Given the description of an element on the screen output the (x, y) to click on. 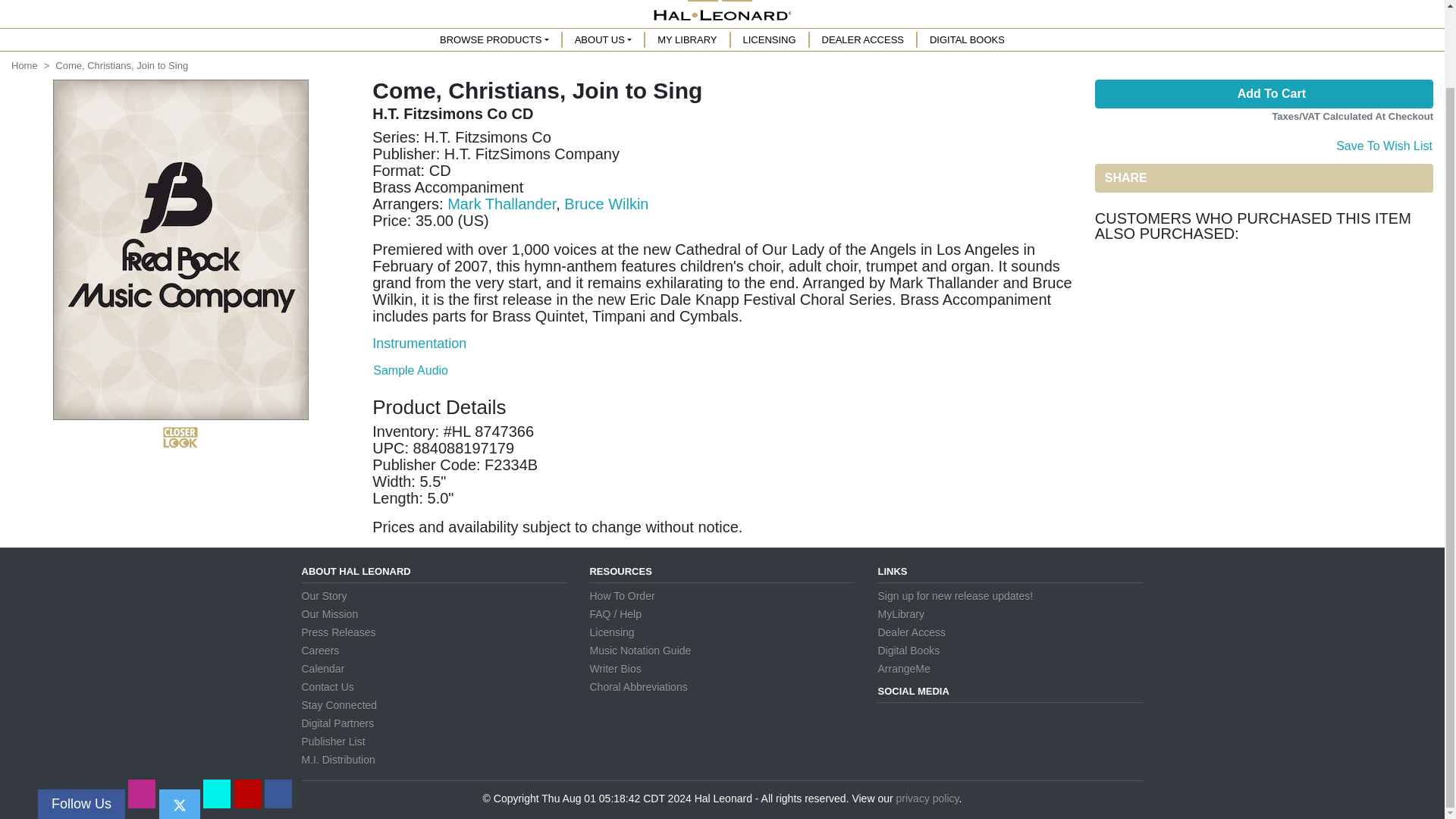
Add to Wish List (1383, 144)
Add to Cart (1263, 93)
Closer Look (180, 436)
